Given the description of an element on the screen output the (x, y) to click on. 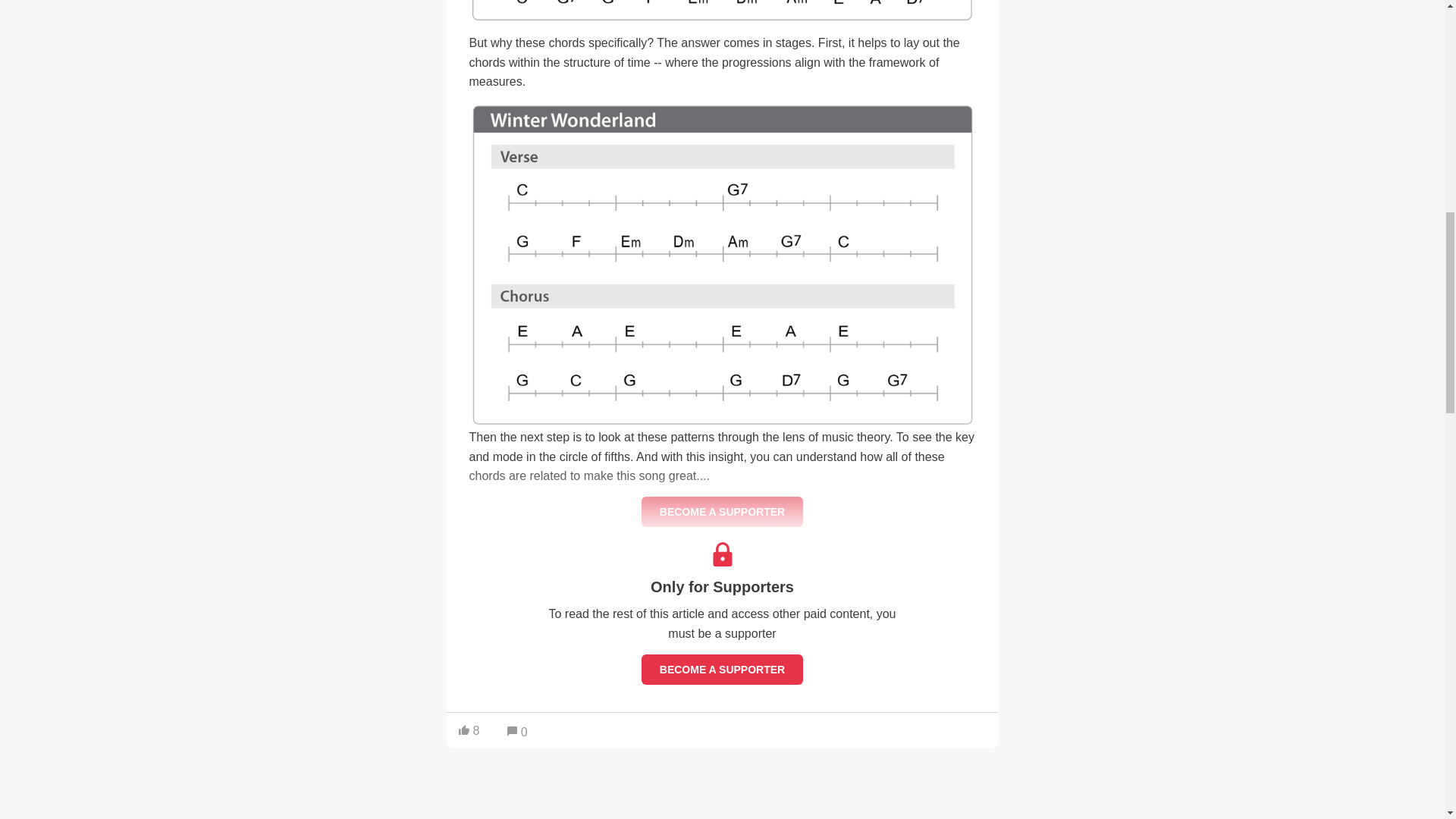
0 (517, 732)
8 (468, 730)
BECOME A SUPPORTER (722, 669)
BECOME A SUPPORTER (722, 511)
